Given the description of an element on the screen output the (x, y) to click on. 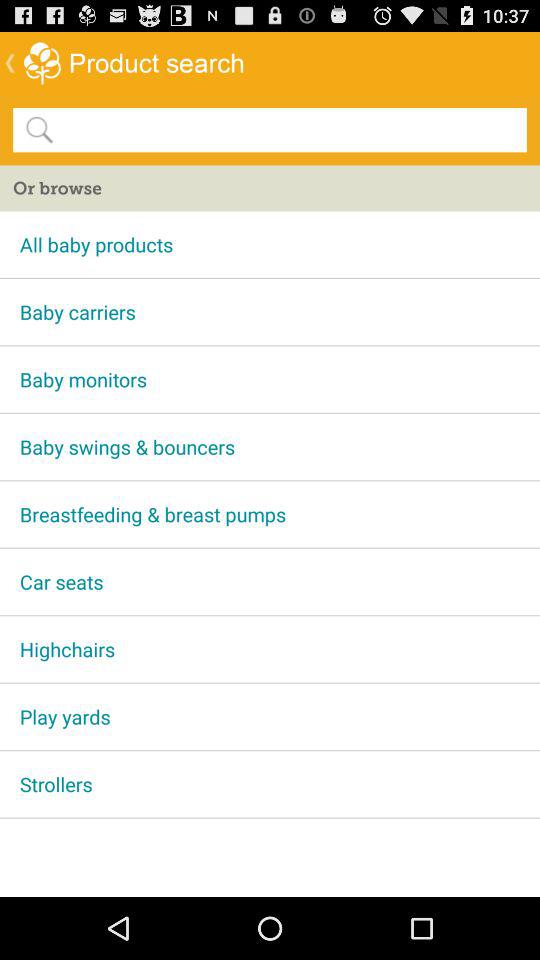
select the item below highchairs item (270, 716)
